Given the description of an element on the screen output the (x, y) to click on. 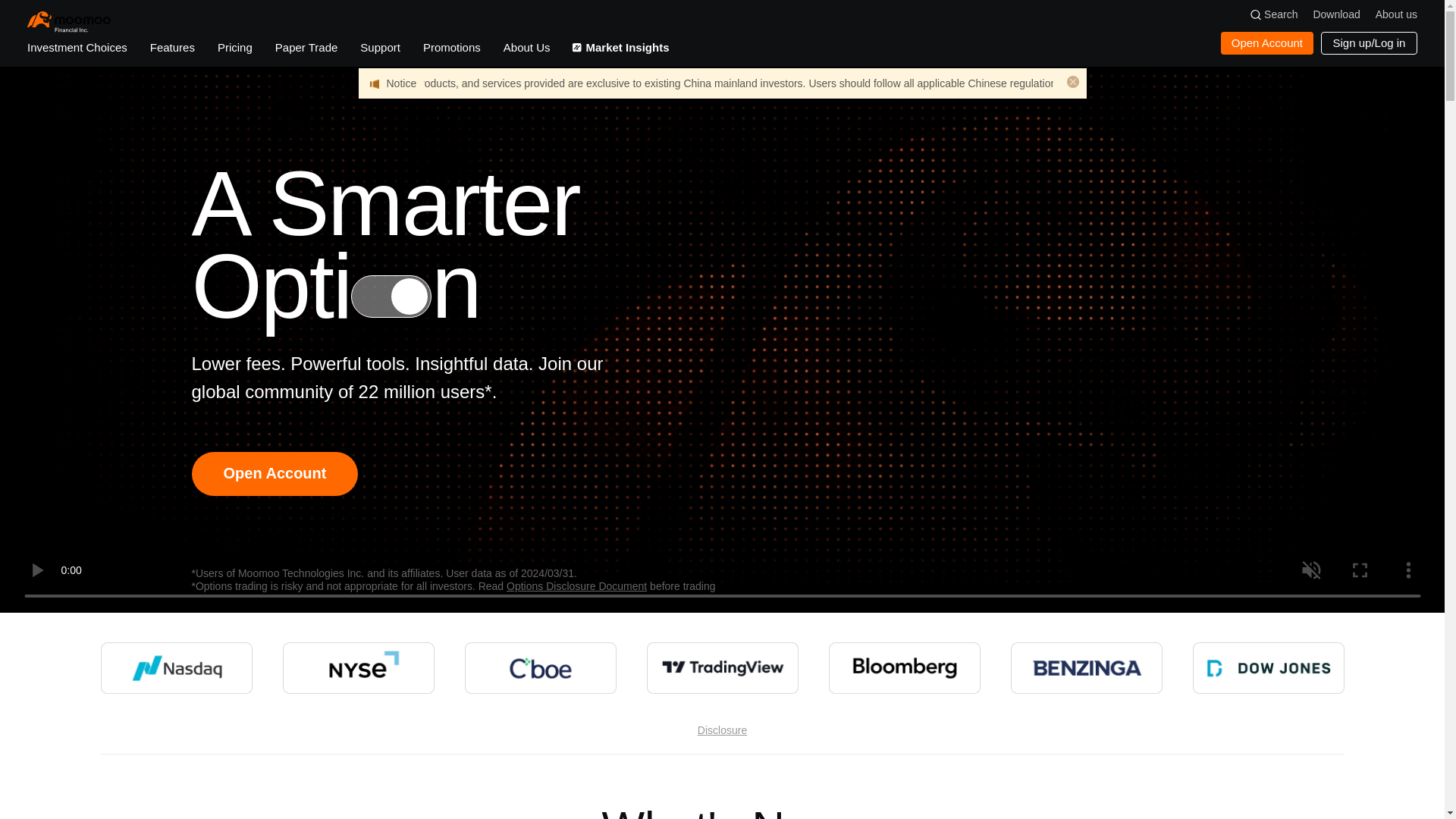
About us (1395, 14)
Pricing (233, 47)
Paper Trade (306, 47)
Support (379, 47)
Market Insights (620, 47)
Download (1336, 14)
